Given the description of an element on the screen output the (x, y) to click on. 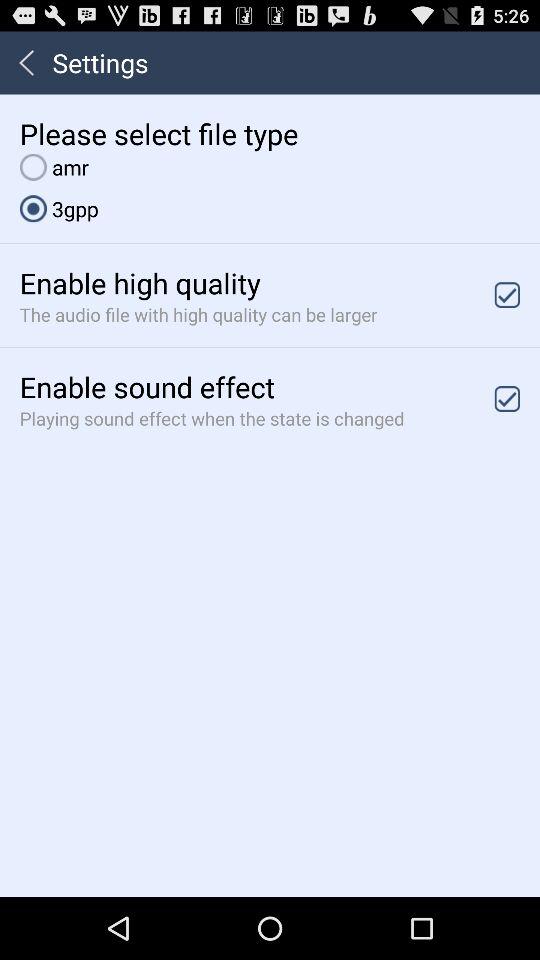
validate option (507, 398)
